Given the description of an element on the screen output the (x, y) to click on. 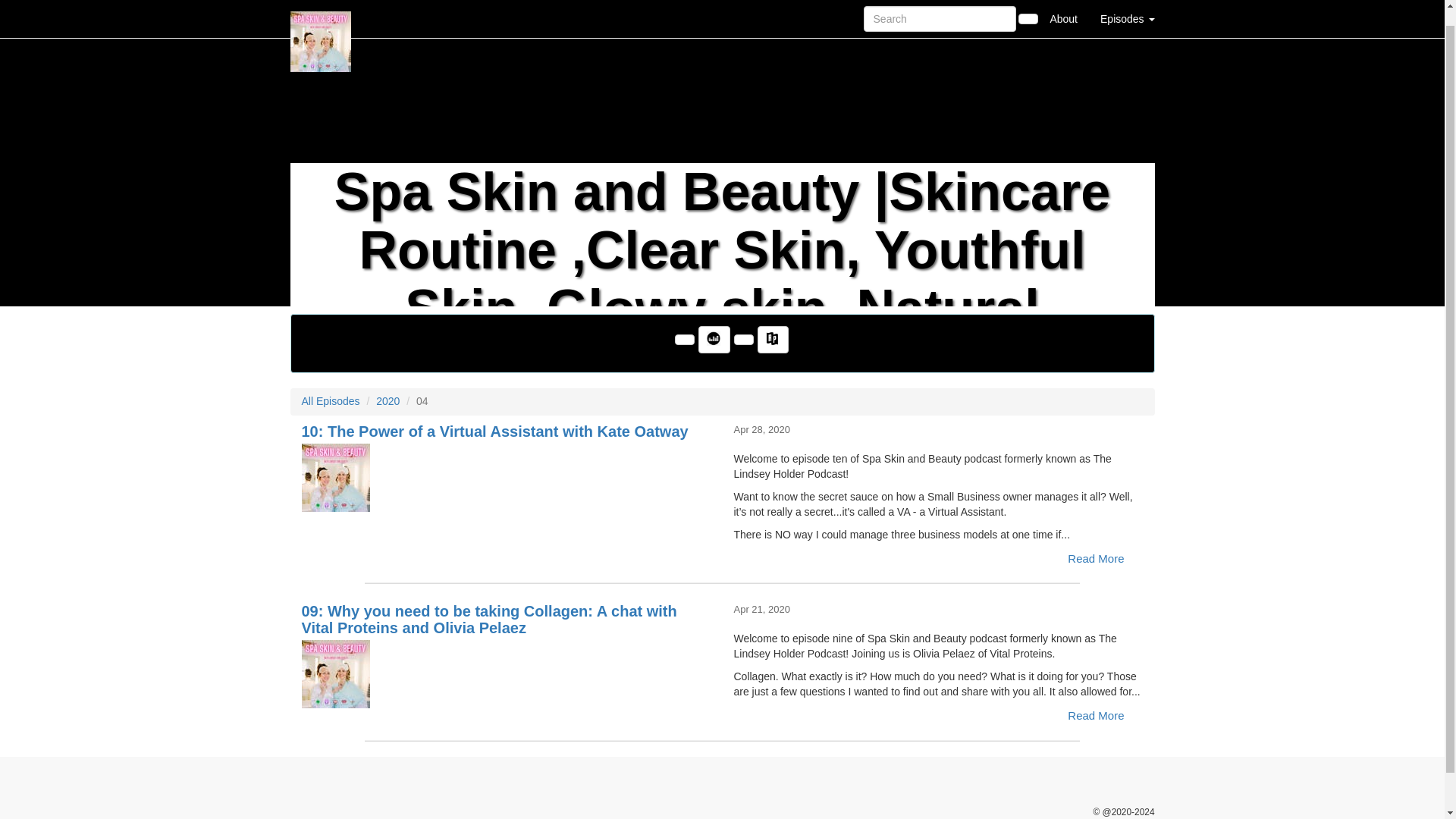
Episodes (1127, 11)
Home Page (320, 11)
10: The Power of a Virtual Assistant with Kate Oatway (506, 477)
About (1063, 11)
